Given the description of an element on the screen output the (x, y) to click on. 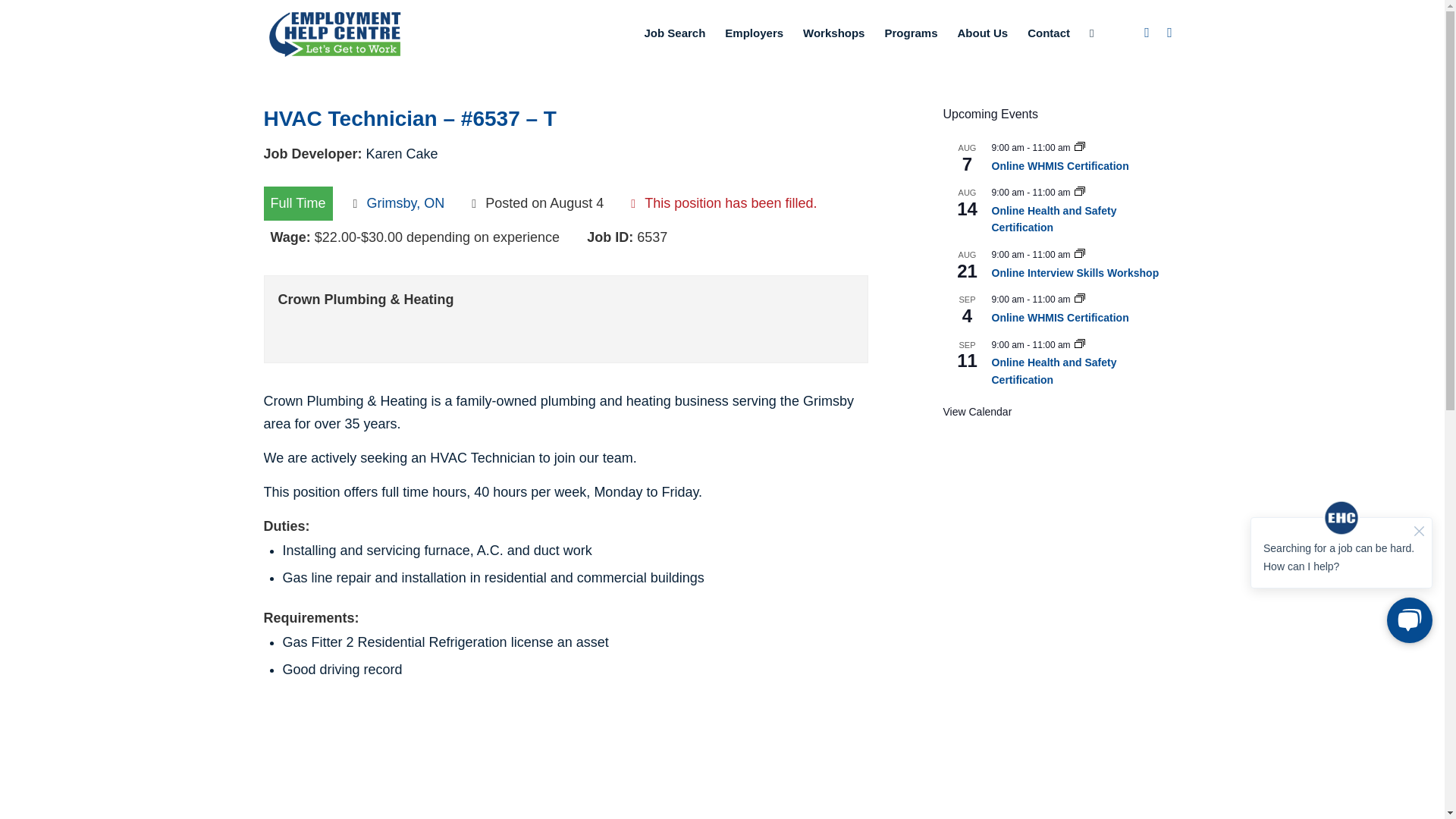
Online Interview Skills Workshop (1074, 273)
Contact (1048, 33)
Online Health and Safety Certification (1053, 371)
Online Health and Safety Certification (1053, 219)
Event Series (1079, 147)
Online WHMIS Certification (1060, 318)
Online WHMIS Certification (1060, 165)
About Us (982, 33)
Online WHMIS Certification (1060, 318)
Workshops (834, 33)
Online WHMIS Certification (1060, 165)
X (1169, 32)
Event Series (1079, 344)
Event Series (1079, 254)
Grimsby, ON (405, 202)
